Given the description of an element on the screen output the (x, y) to click on. 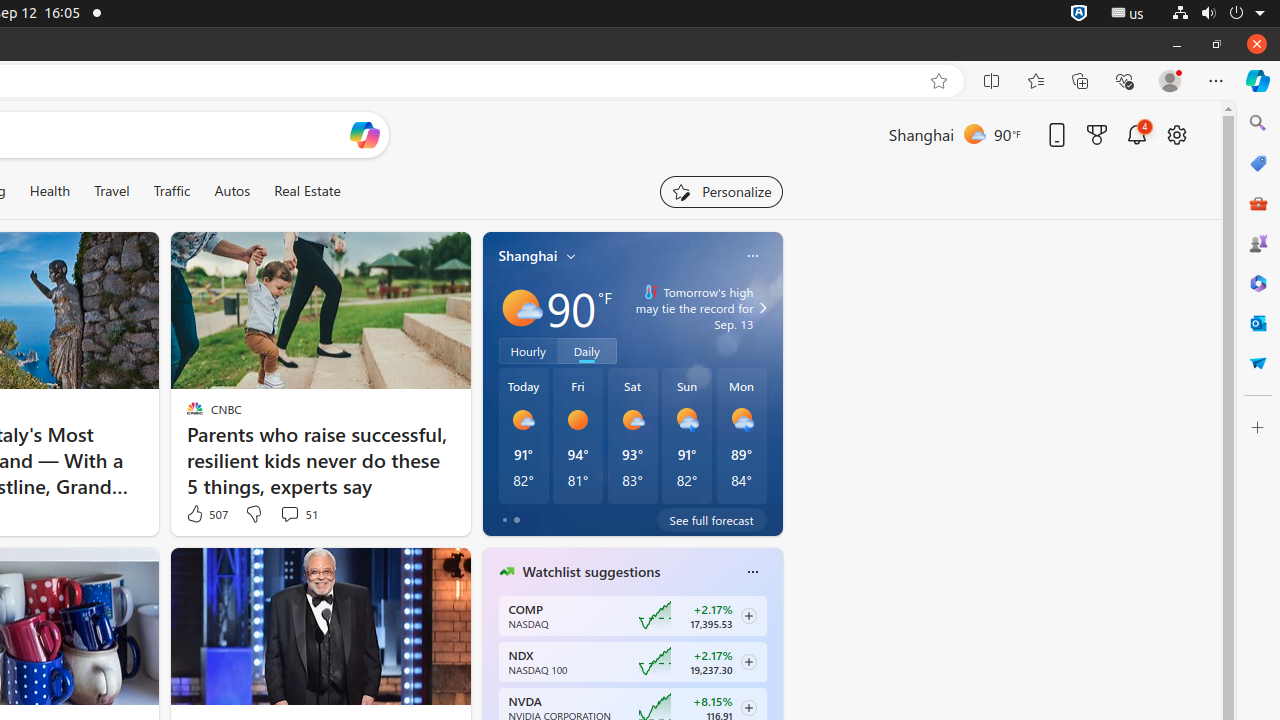
My location Element type: push-button (571, 256)
See full forecast Element type: push-button (711, 520)
90°F Element type: link (579, 308)
Personalize your feed" Element type: push-button (721, 191)
Search Element type: push-button (1258, 123)
